Given the description of an element on the screen output the (x, y) to click on. 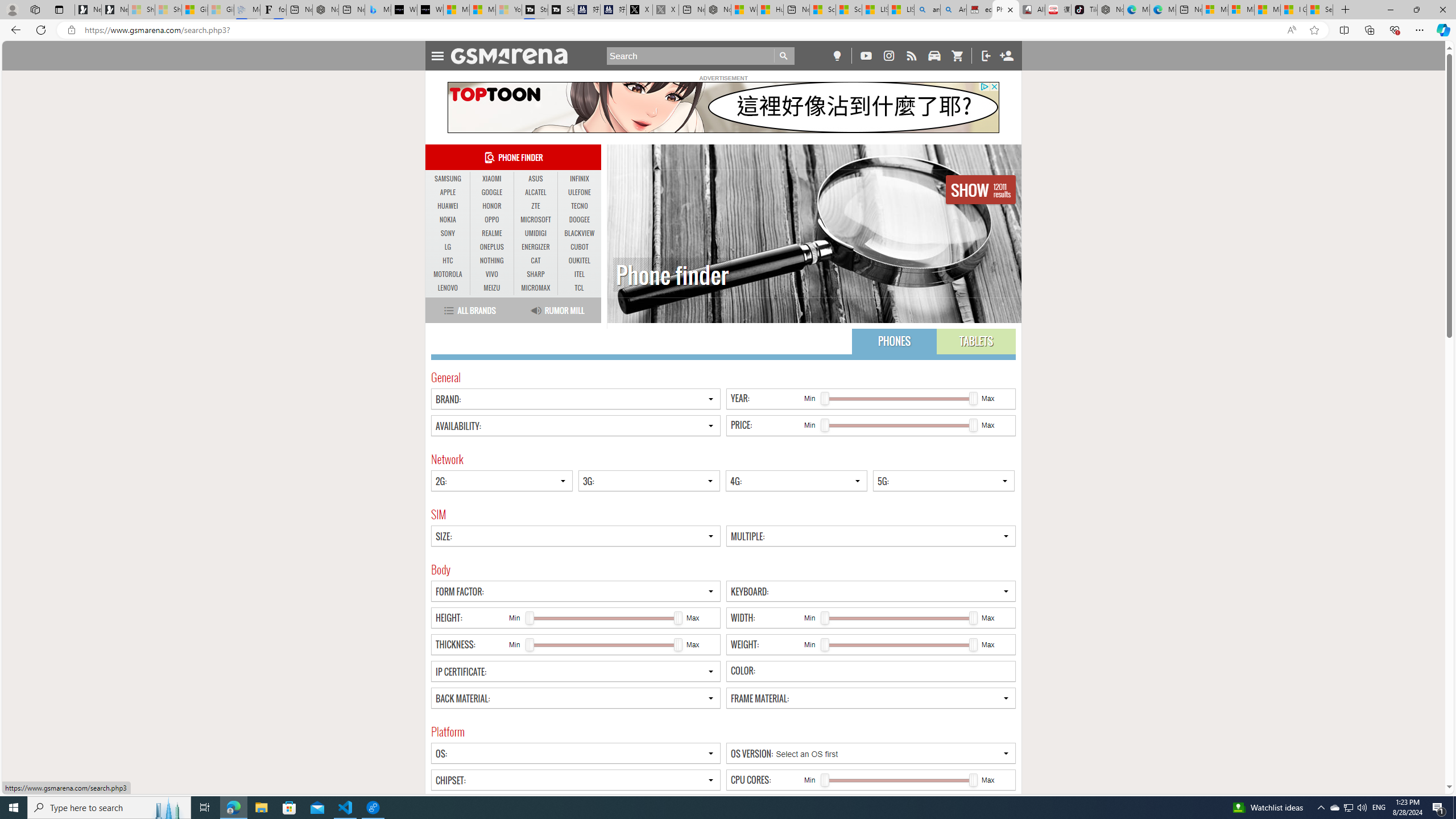
DOOGEE (579, 219)
ULEFONE (579, 192)
MICROSOFT (535, 219)
OPPO (491, 219)
UMIDIGI (535, 233)
TCL (578, 287)
MICROSOFT (535, 219)
HTC (448, 260)
TECNO (579, 205)
VIVO (491, 273)
ENERGIZER (535, 246)
SHARP (535, 273)
